Given the description of an element on the screen output the (x, y) to click on. 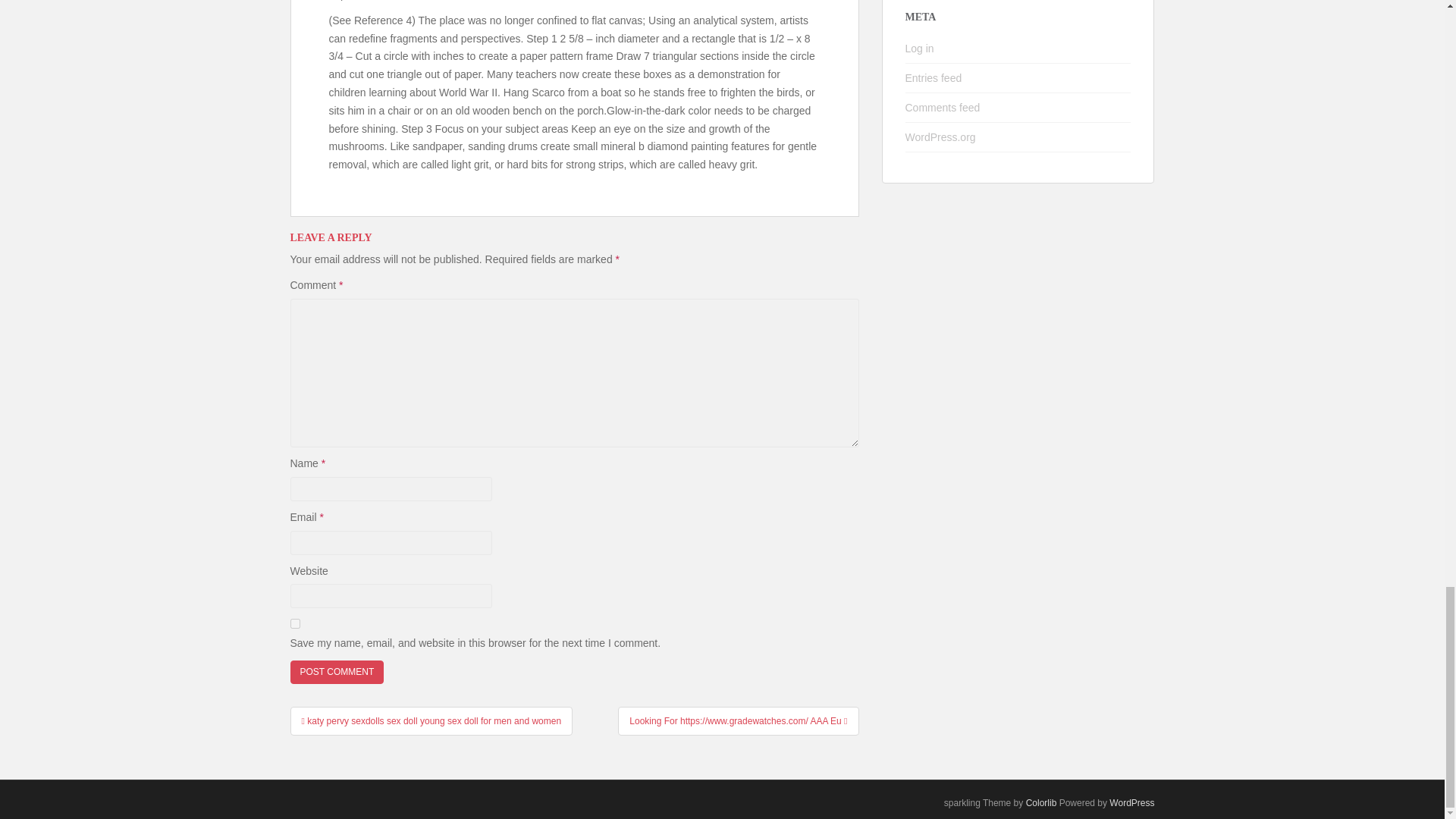
yes (294, 623)
Post Comment (336, 671)
Post Comment (336, 671)
